Given the description of an element on the screen output the (x, y) to click on. 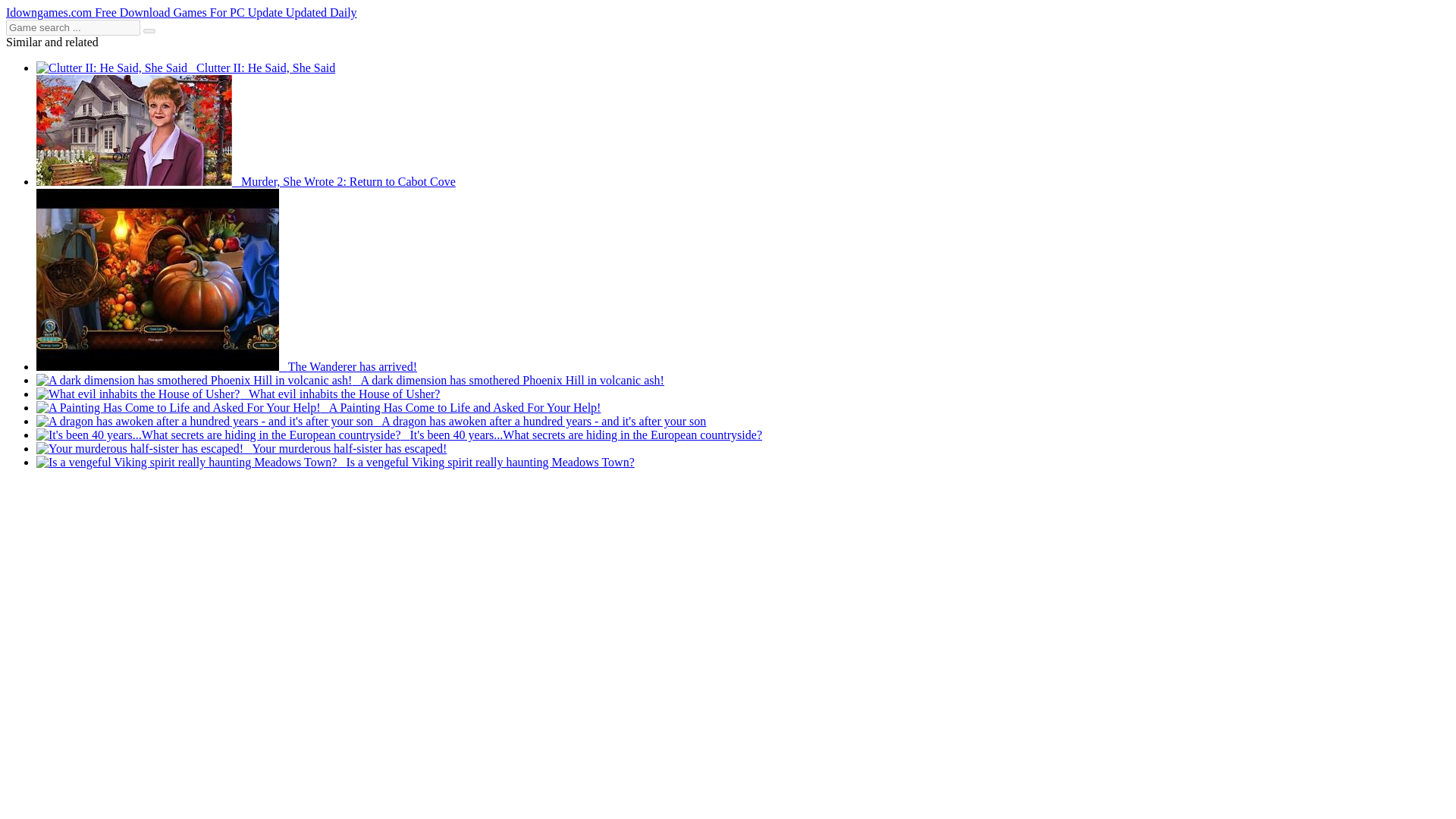
  A Painting Has Come to Life and Asked For Your Help! (317, 407)
  Murder, She Wrote 2: Return to Cabot Cove (245, 181)
  Clutter II: He Said, She Said (185, 67)
  Your murderous half-sister has escaped! (241, 448)
Murder, She Wrote 2: Return to Cabot Cove (245, 181)
  What evil inhabits the House of Usher? (237, 393)
Clutter II: He Said, She Said (185, 67)
The Wanderer has arrived! (226, 366)
Your murderous half-sister has escaped! (241, 448)
A dark dimension has smothered Phoenix Hill in volcanic ash! (349, 379)
